Given the description of an element on the screen output the (x, y) to click on. 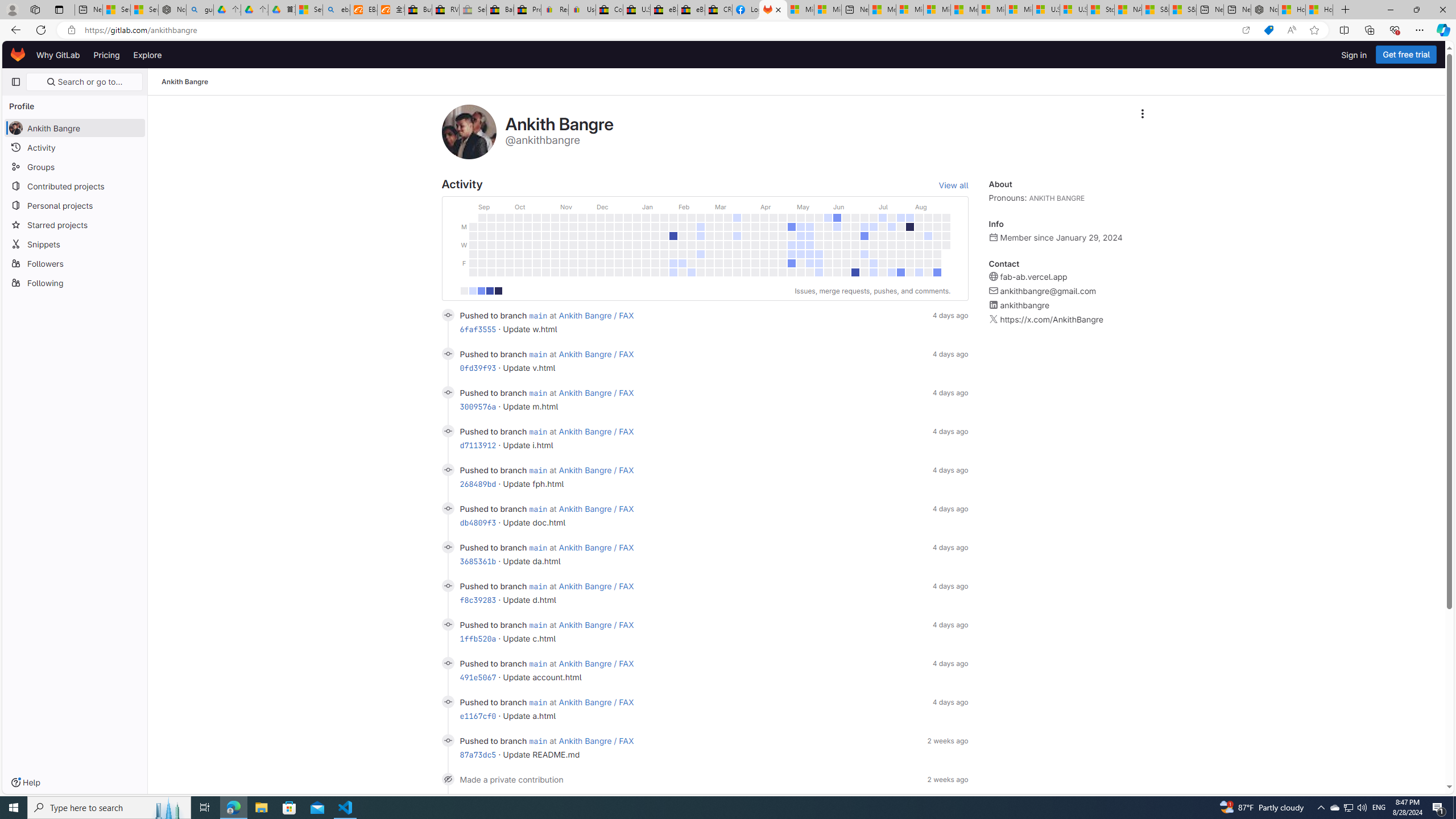
0fd39f93 (478, 367)
